Given the description of an element on the screen output the (x, y) to click on. 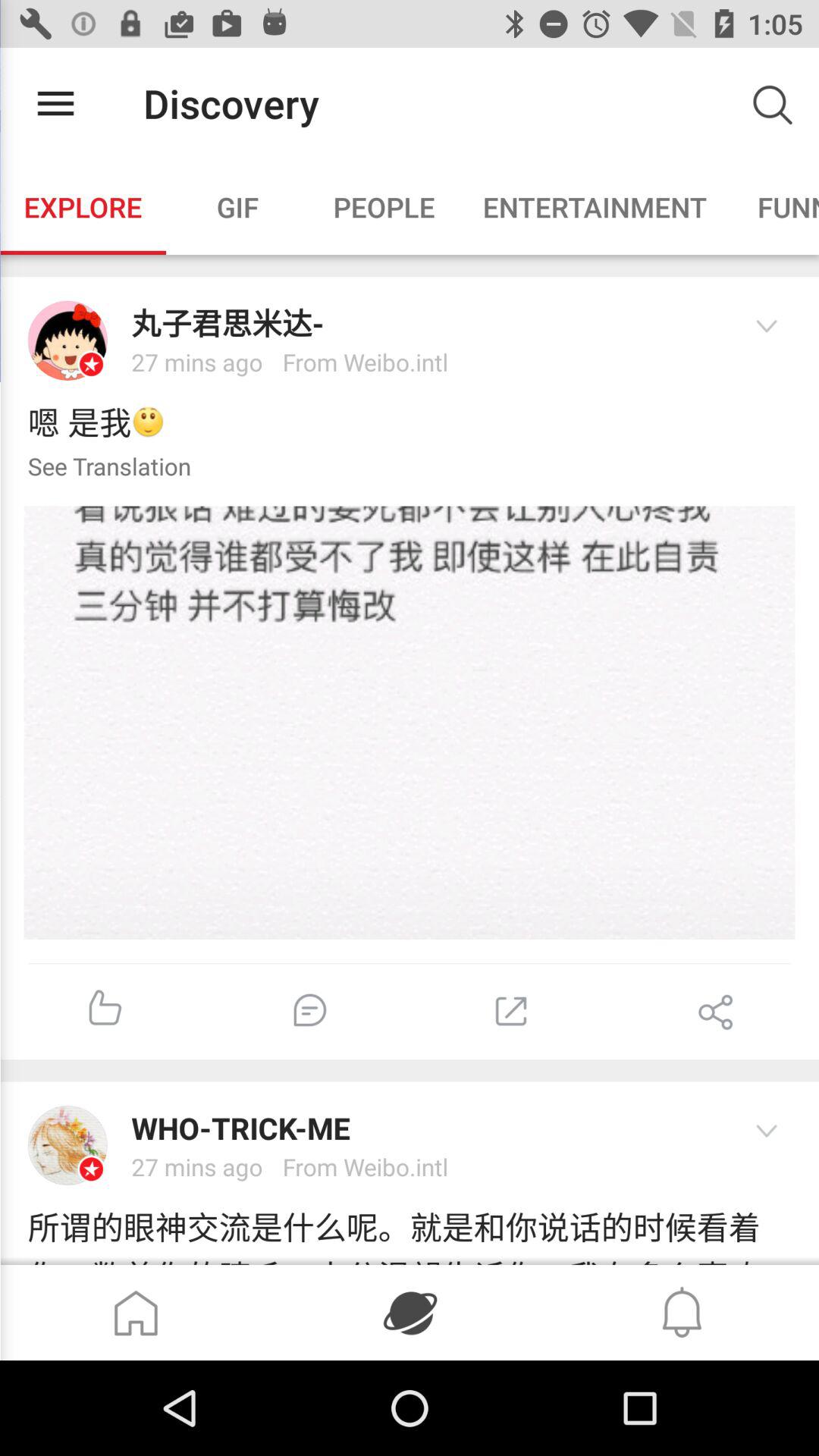
press the see translation (95, 467)
